Given the description of an element on the screen output the (x, y) to click on. 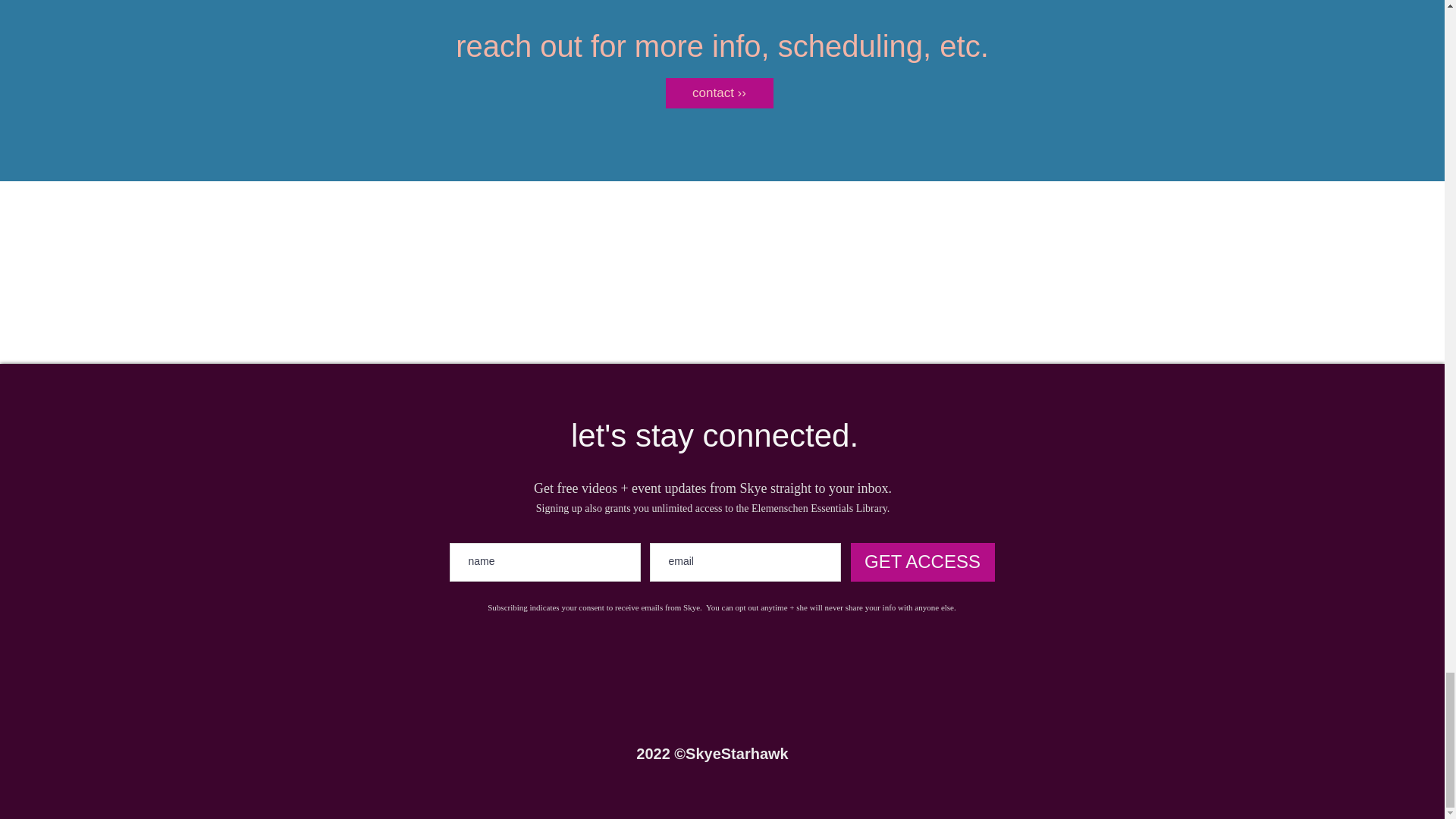
GET ACCESS (922, 561)
